Given the description of an element on the screen output the (x, y) to click on. 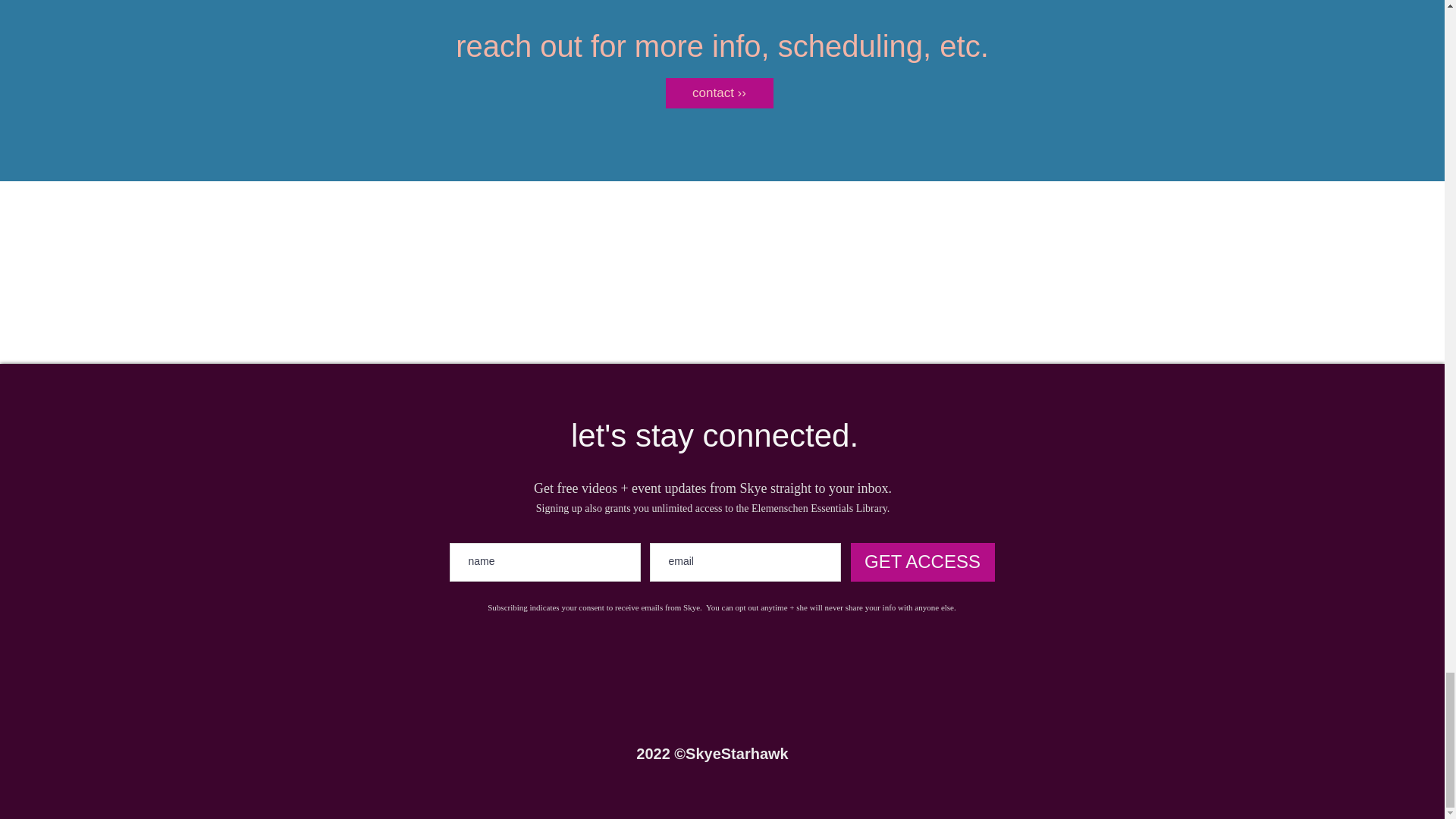
GET ACCESS (922, 561)
